Given the description of an element on the screen output the (x, y) to click on. 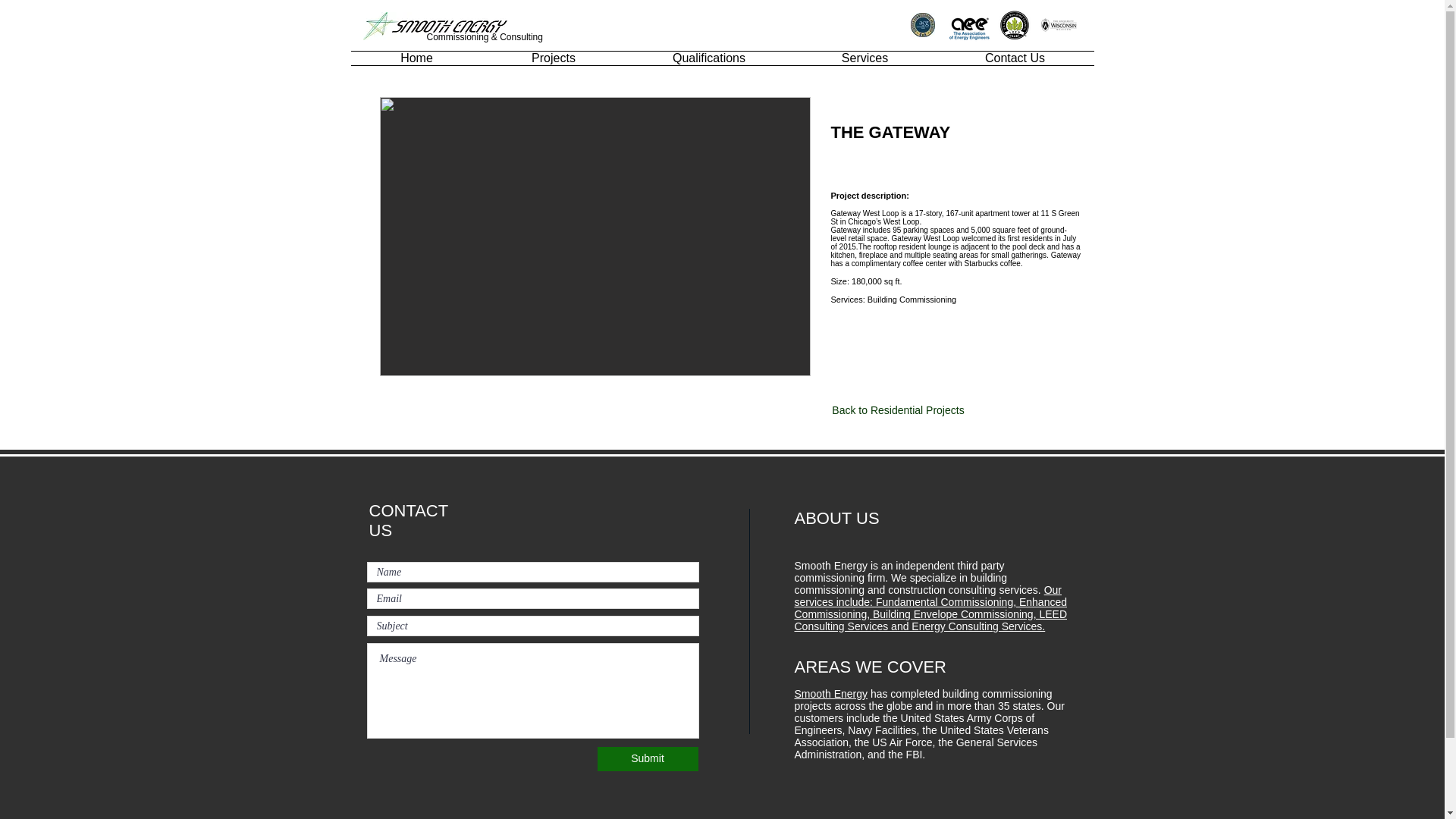
Qualifications (708, 58)
Home (415, 58)
Back to Residential Projects (898, 410)
Contact Us (1014, 58)
Services (864, 58)
Smooth Energy (830, 693)
Submit (647, 758)
